Given the description of an element on the screen output the (x, y) to click on. 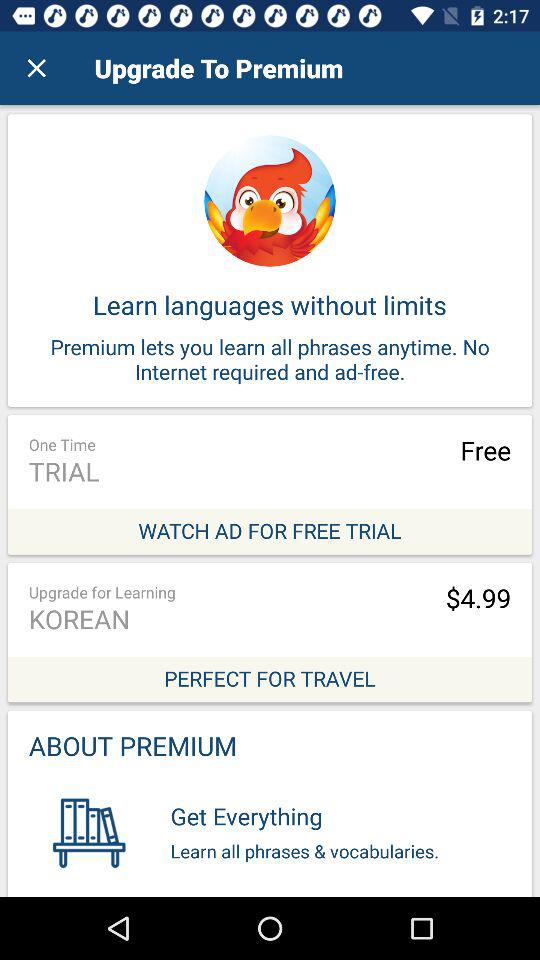
turn on the item at the top left corner (36, 68)
